Given the description of an element on the screen output the (x, y) to click on. 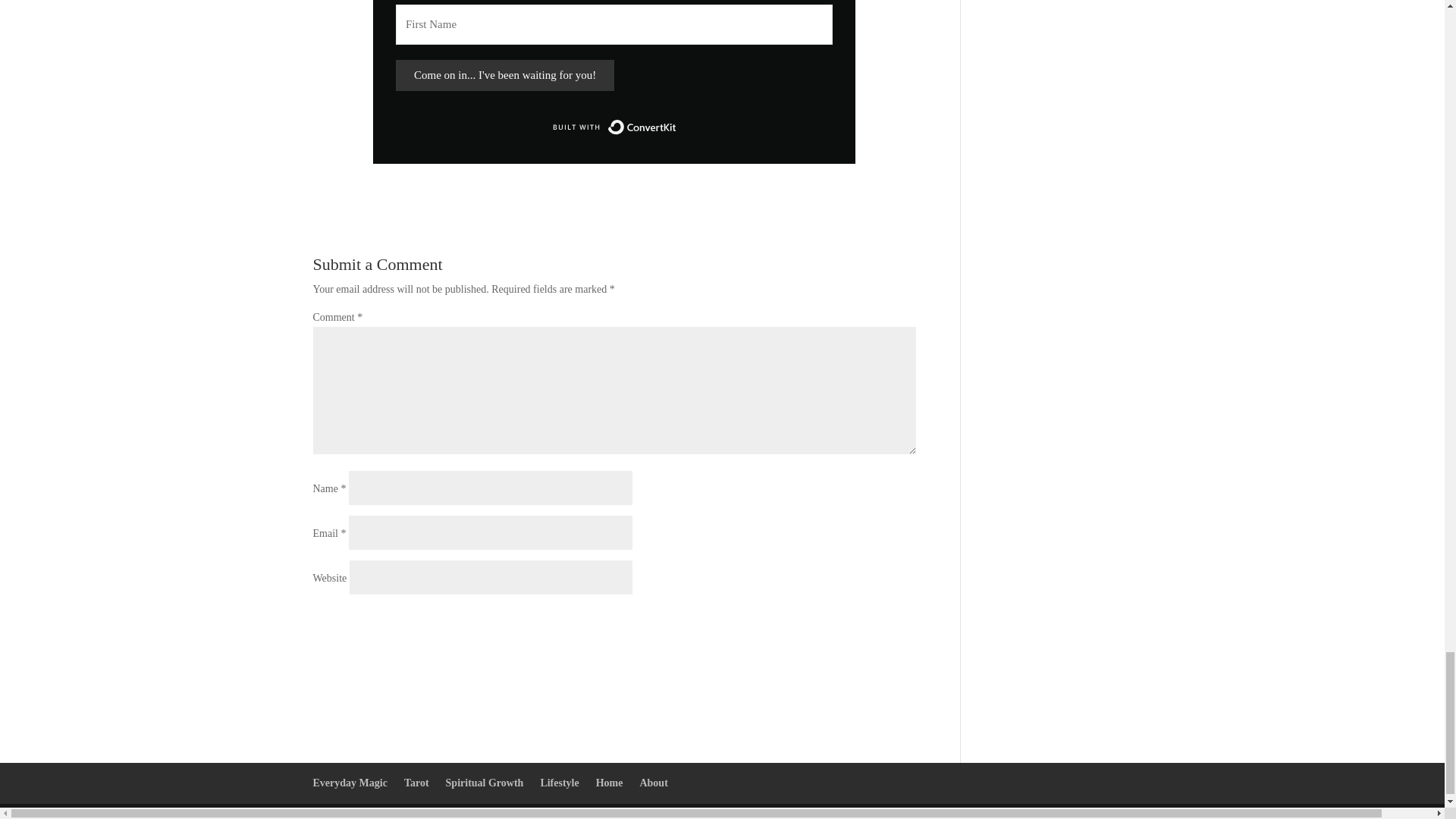
Come on in... I've been waiting for you! (505, 74)
Submit Comment (844, 623)
Built with ConvertKit (614, 126)
Submit Comment (844, 623)
